Given the description of an element on the screen output the (x, y) to click on. 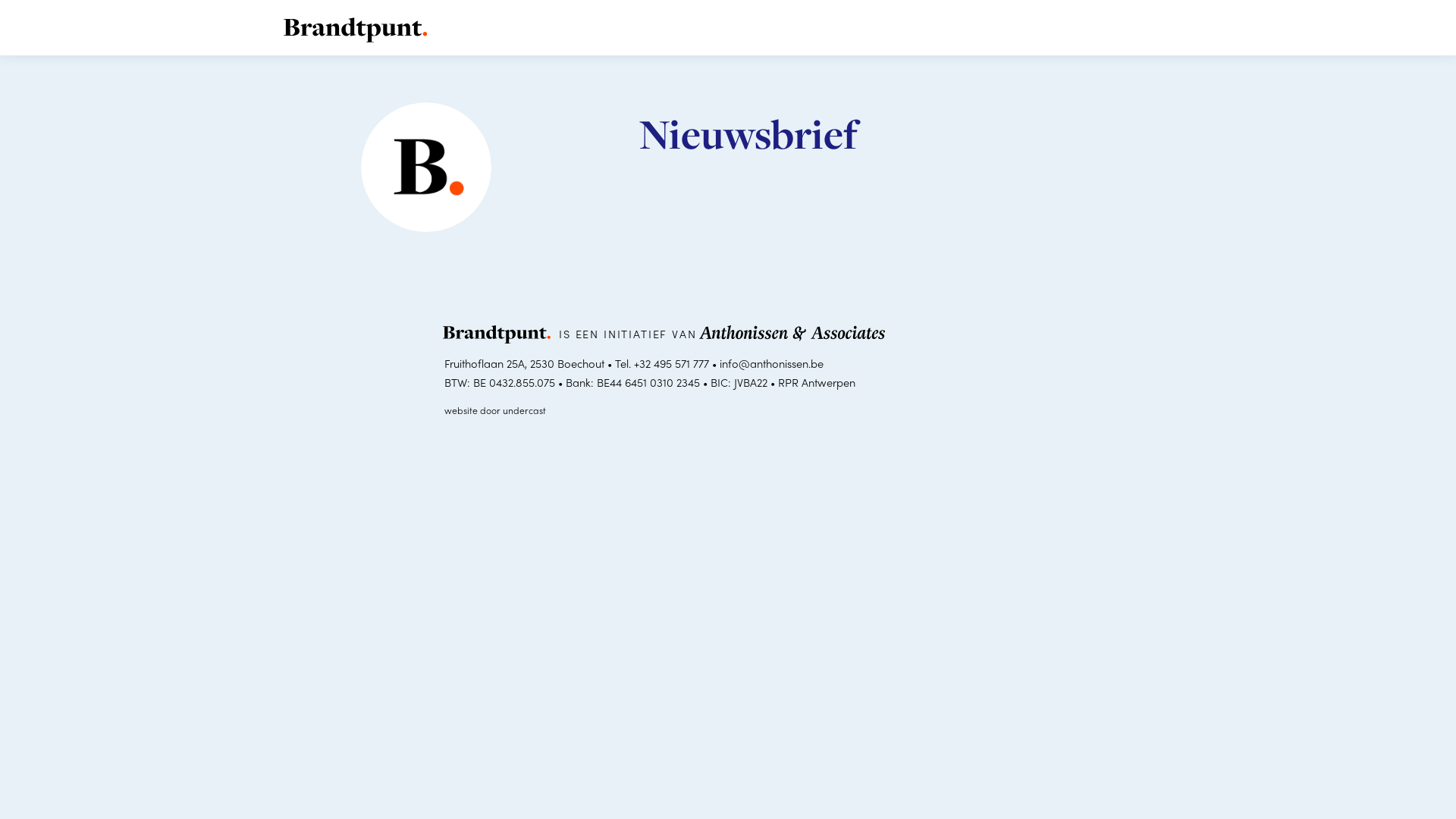
undercast Element type: text (524, 410)
info@anthonissen.be Element type: text (771, 362)
